Given the description of an element on the screen output the (x, y) to click on. 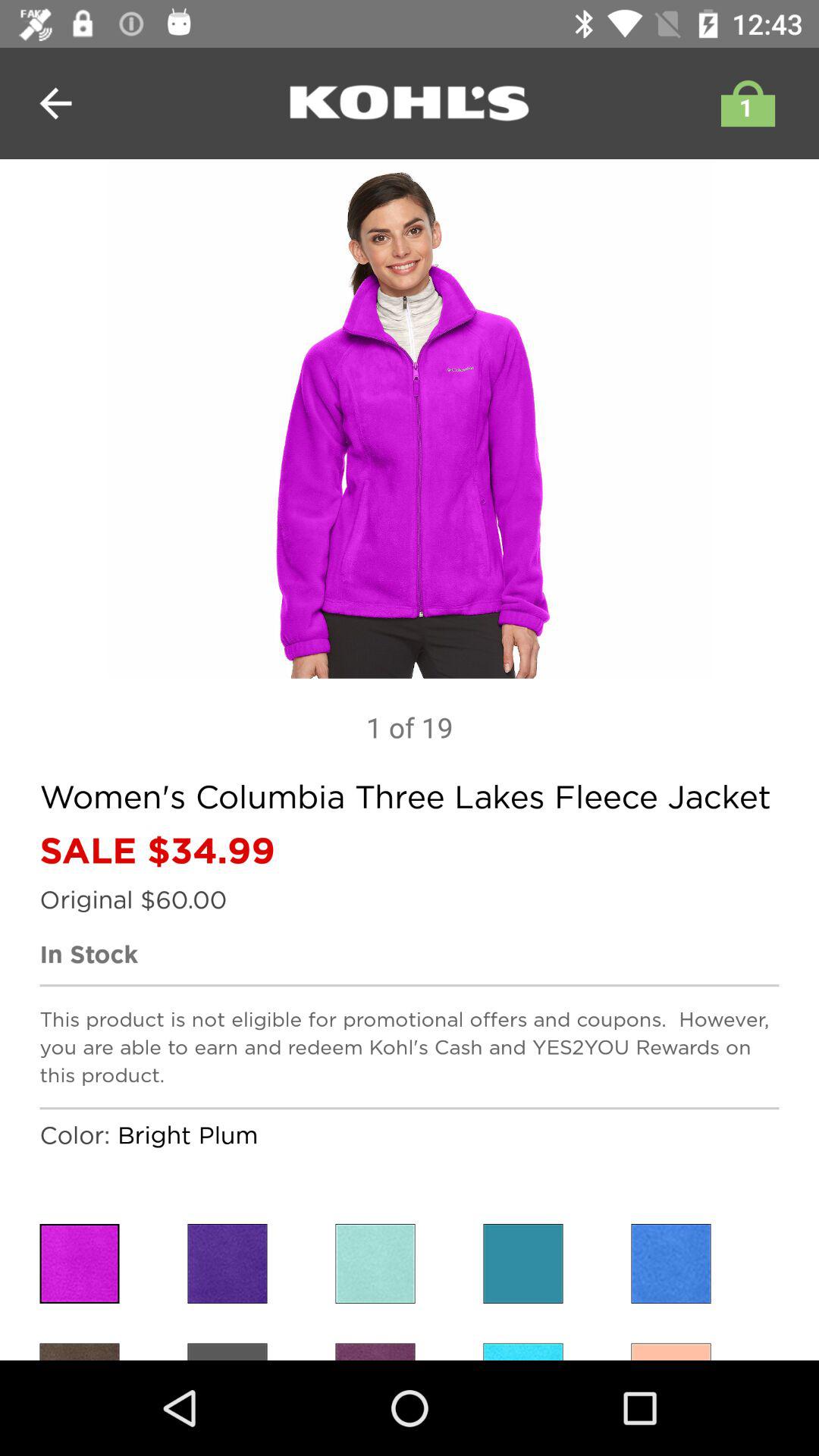
select item below the color: icon (79, 1263)
